Given the description of an element on the screen output the (x, y) to click on. 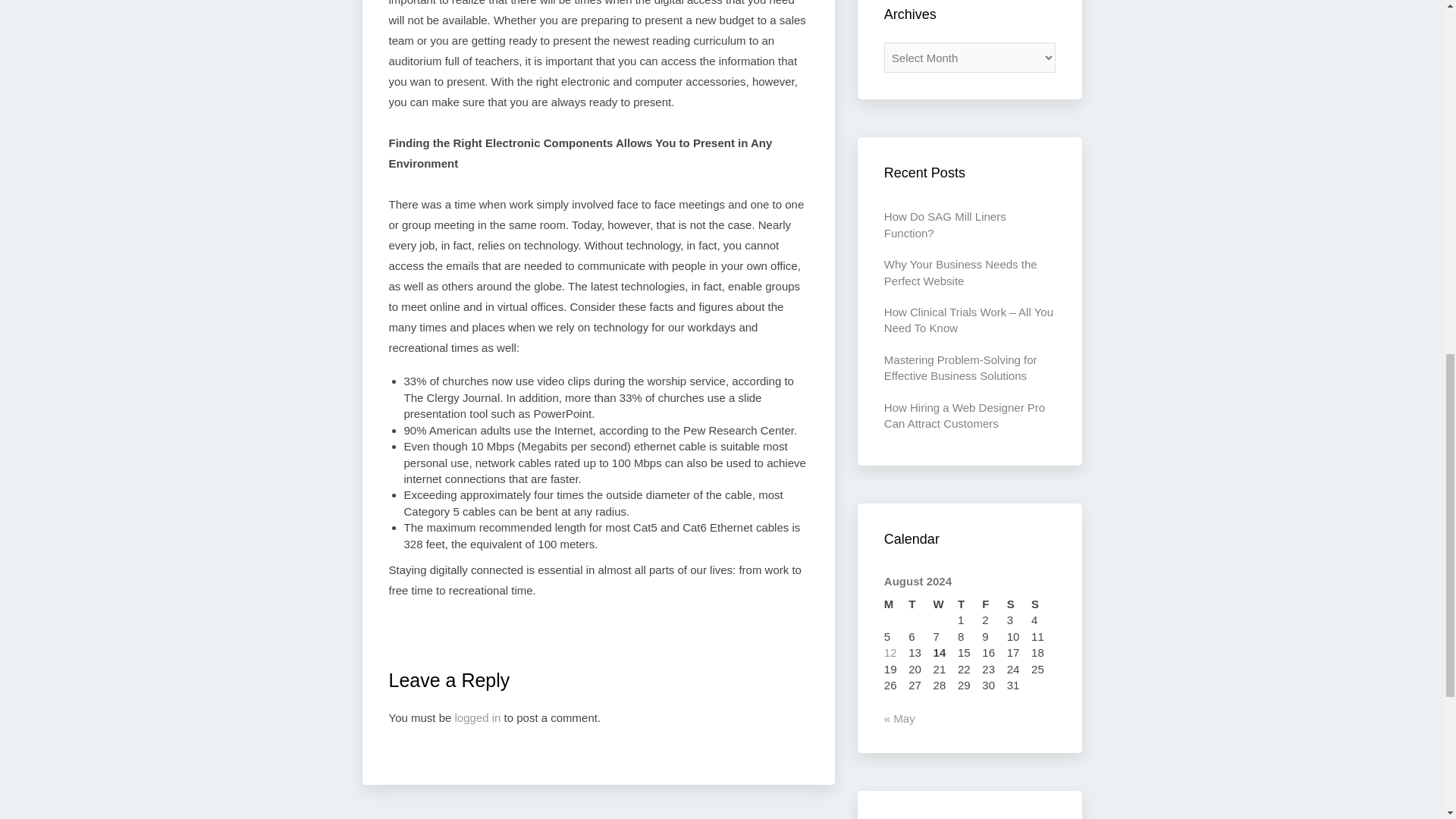
Thursday (969, 603)
Wednesday (945, 603)
logged in (477, 717)
Friday (993, 603)
Sunday (1042, 603)
Mastering Problem-Solving for Effective Business Solutions (959, 367)
How Do SAG Mill Liners Function? (944, 224)
Monday (895, 603)
Tuesday (920, 603)
Saturday (1018, 603)
